Given the description of an element on the screen output the (x, y) to click on. 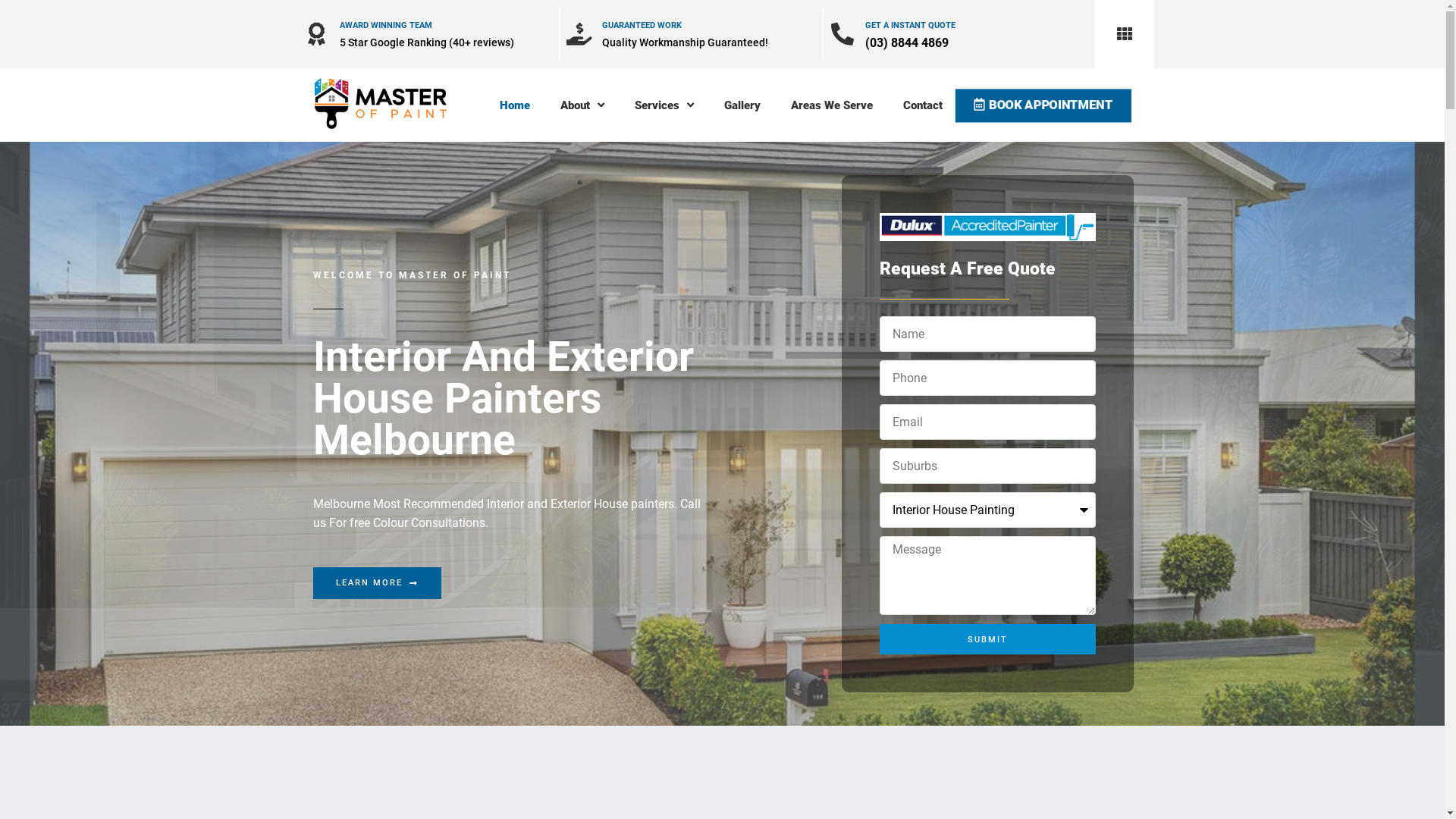
SUBMIT Element type: text (987, 639)
Areas We Serve Element type: text (831, 105)
Home Element type: text (514, 105)
BOOK APPOINTMENT Element type: text (1038, 104)
Services Element type: text (664, 105)
Contact Element type: text (922, 105)
About Element type: text (582, 105)
LEARN MORE Element type: text (376, 583)
GET A INSTANT QUOTE Element type: text (910, 25)
Gallery Element type: text (742, 105)
